Given the description of an element on the screen output the (x, y) to click on. 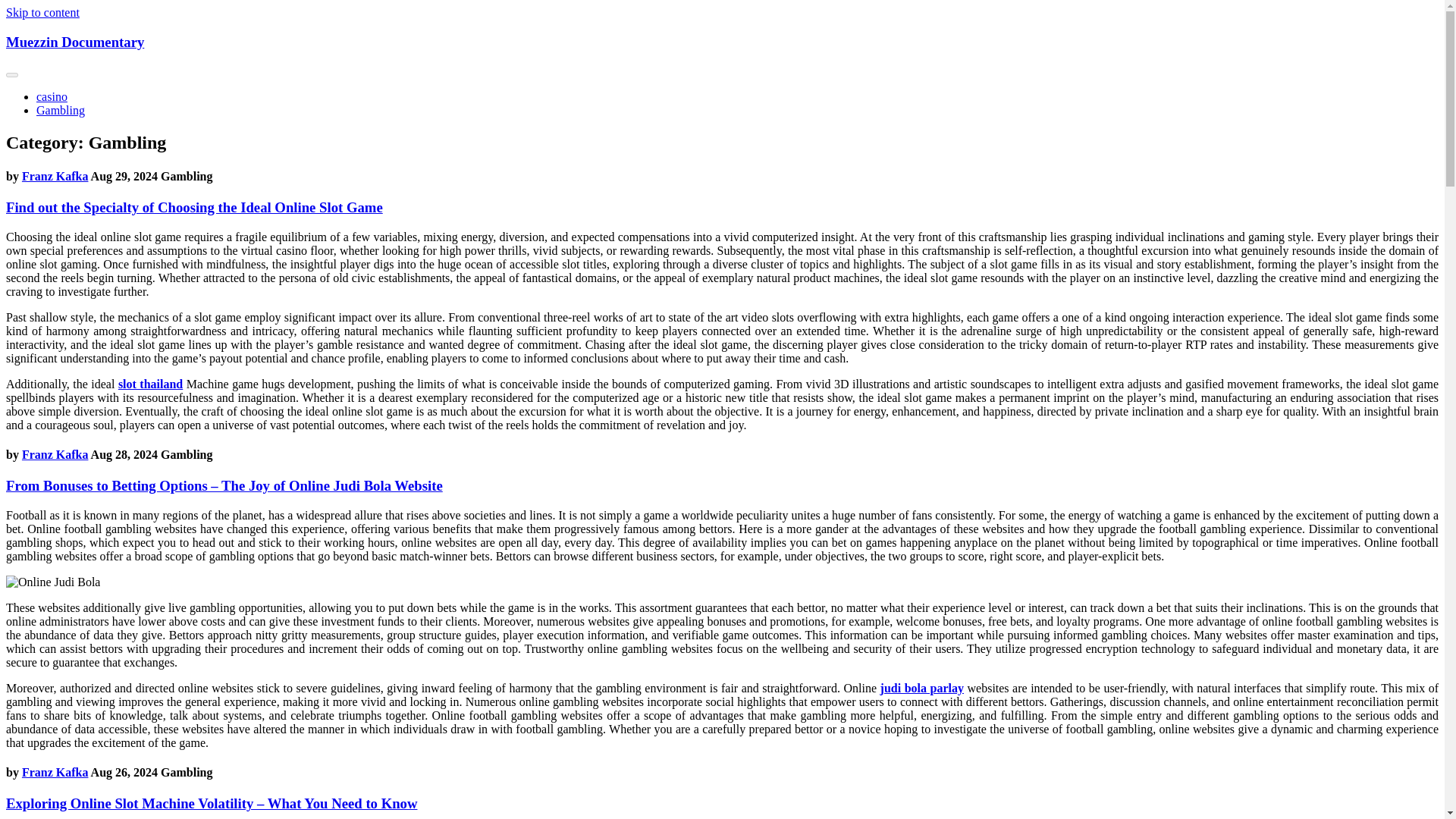
Gambling (60, 110)
Skip to content (42, 11)
slot thailand (150, 383)
casino (51, 96)
Franz Kafka (54, 175)
Franz Kafka (54, 771)
judi bola parlay (921, 687)
Franz Kafka (54, 454)
